Given the description of an element on the screen output the (x, y) to click on. 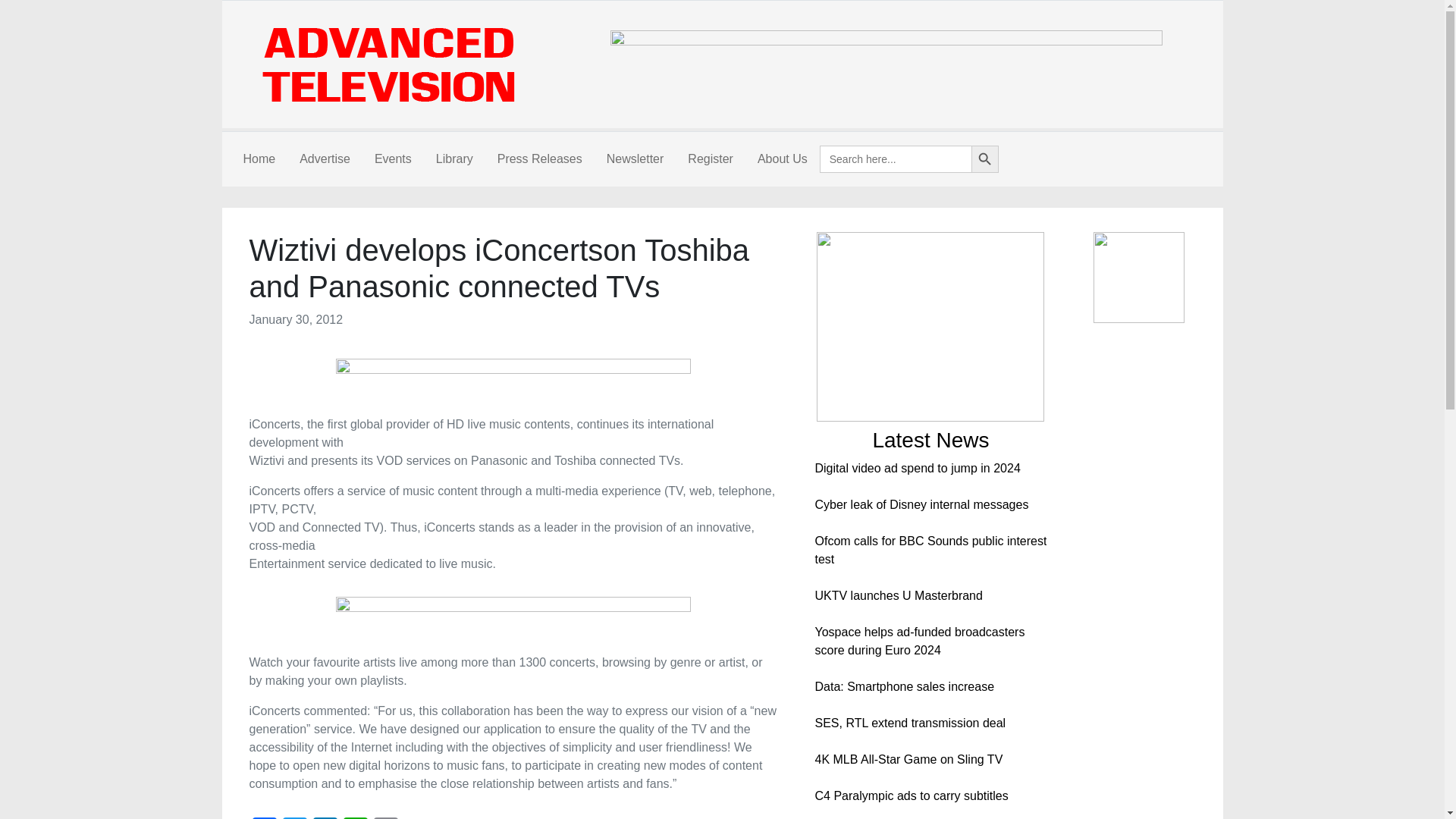
Facebook (263, 818)
UKTV launches U Masterbrand (897, 594)
Ofcom calls for BBC Sounds public interest test (929, 549)
4K MLB All-Star Game on Sling TV (908, 758)
Cyber leak of Disney internal messages (920, 504)
Register (710, 158)
Facebook (263, 818)
Library (453, 158)
Home (258, 158)
Data: Smartphone sales increase (903, 686)
Email (384, 818)
Twitter (293, 818)
C4 Paralympic ads to carry subtitles (910, 795)
Digital video ad spend to jump in 2024 (916, 468)
LinkedIn (323, 818)
